Given the description of an element on the screen output the (x, y) to click on. 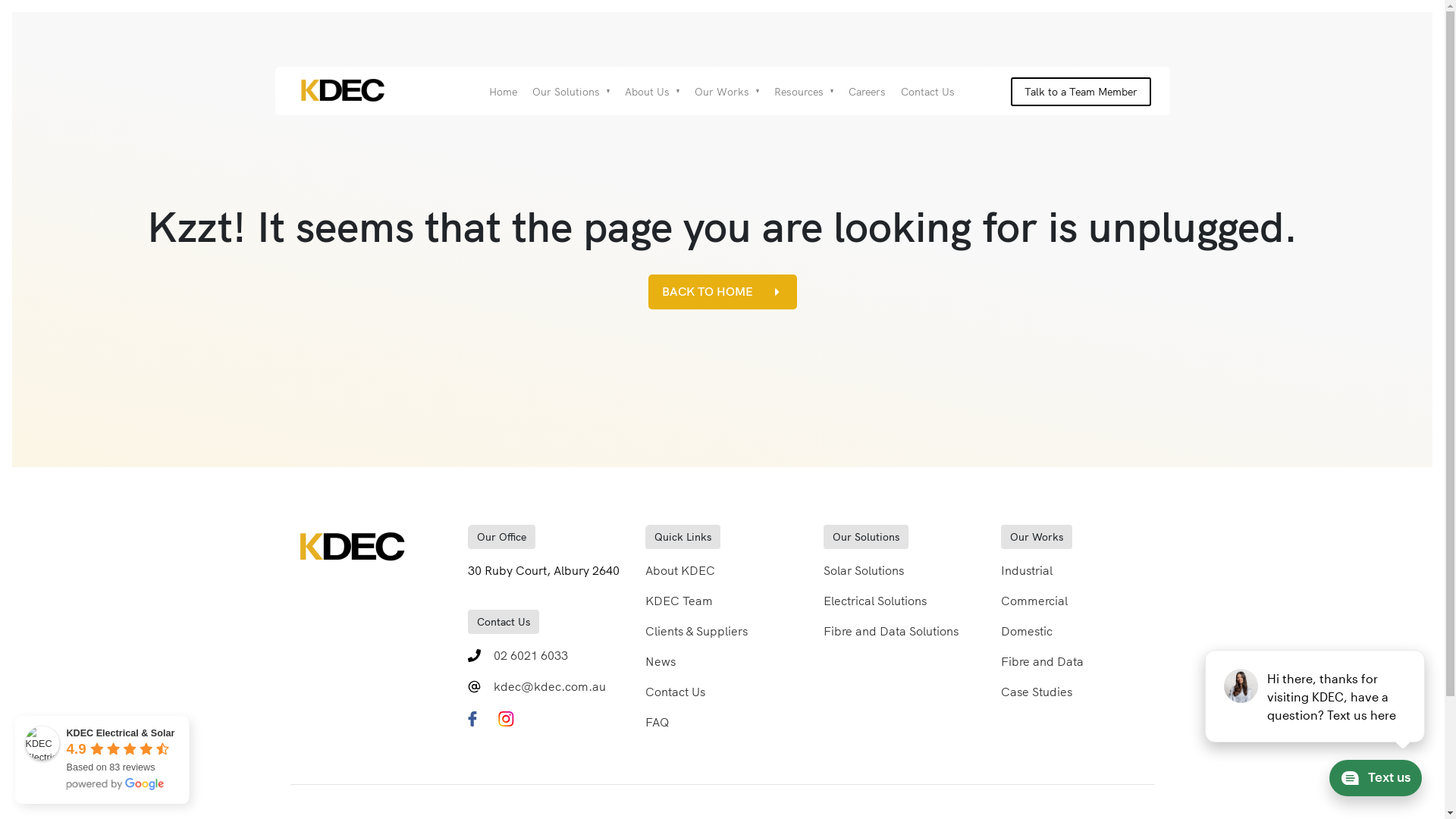
Contact Us Element type: text (927, 91)
KDEC Team Element type: text (678, 600)
Clients & Suppliers Element type: text (696, 630)
Careers Element type: text (866, 91)
Home Element type: text (503, 91)
KDEC Electrical & Solar Element type: text (126, 733)
Fibre and Data Solutions Element type: text (890, 630)
News Element type: text (660, 660)
Contact Us Element type: text (675, 691)
About Us Element type: text (646, 91)
02 6021 6033 Element type: text (530, 654)
Commercial Element type: text (1034, 600)
powered by Google Element type: hover (120, 784)
kdec@kdec.com.au Element type: text (549, 685)
Solar Solutions Element type: text (863, 569)
KDEC Electrical & Solar Element type: hover (44, 744)
Talk to a Team Member Element type: text (1080, 91)
Fibre and Data Element type: text (1042, 660)
BACK TO HOME Element type: text (721, 291)
Electrical Solutions Element type: text (874, 600)
podium webchat widget prompt Element type: hover (1315, 696)
Industrial Element type: text (1026, 569)
About KDEC Element type: text (680, 569)
Case Studies Element type: text (1036, 691)
Our Works Element type: text (721, 91)
FAQ Element type: text (657, 721)
Domestic Element type: text (1026, 630)
Resources Element type: text (798, 91)
Our Solutions Element type: text (565, 91)
